Given the description of an element on the screen output the (x, y) to click on. 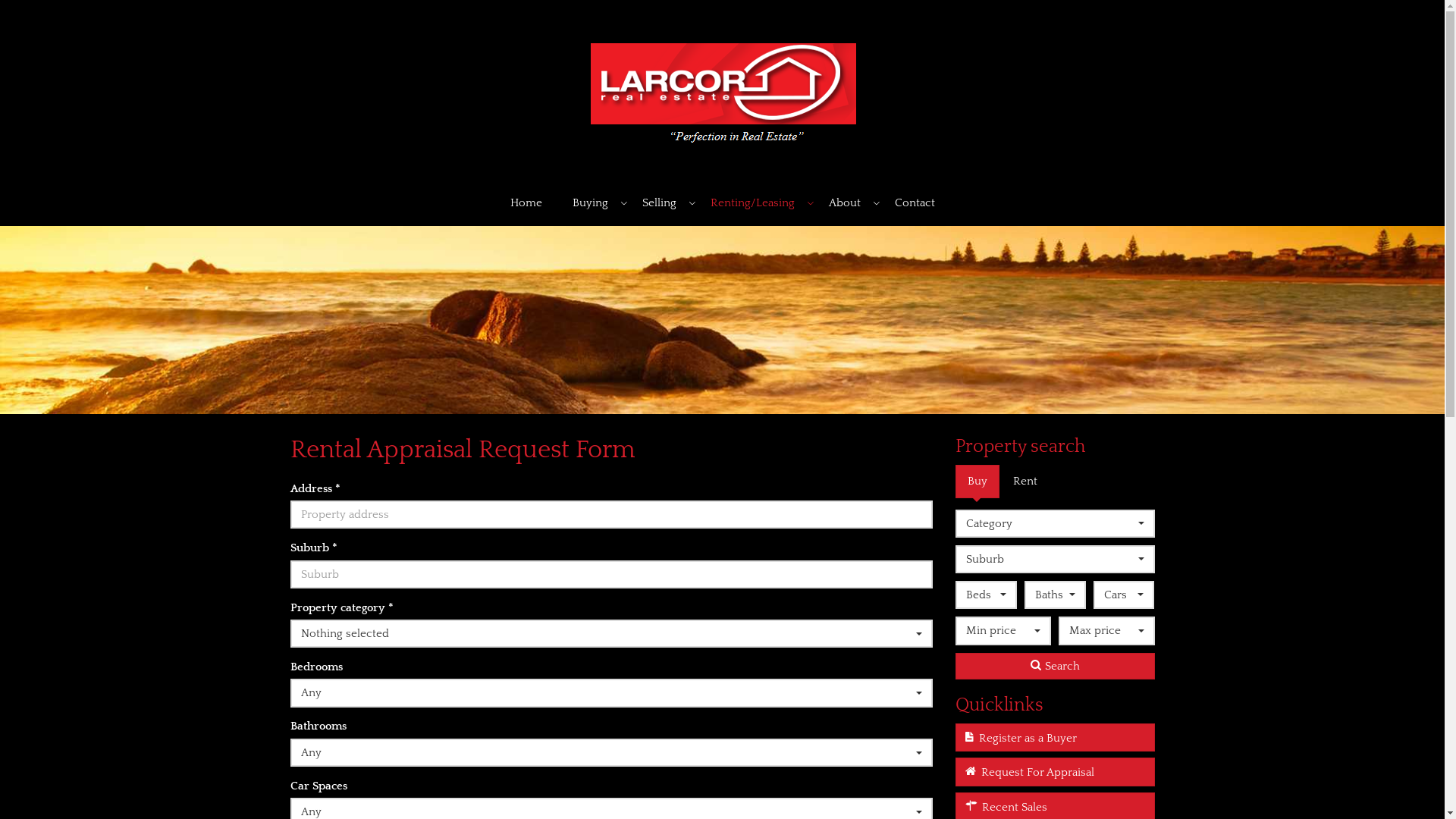
Nothing selected
  Element type: text (610, 633)
Rent Element type: text (1025, 480)
About Element type: text (845, 202)
Renting/Leasing Element type: text (753, 202)
Beds
  Element type: text (985, 594)
Min price
  Element type: text (1003, 630)
Any
  Element type: text (610, 752)
Cars
  Element type: text (1123, 594)
Selling Element type: text (660, 202)
Buy Element type: text (977, 480)
Request For Appraisal Element type: text (1054, 771)
Suburb
  Element type: text (1054, 559)
Larcor Real Estate Element type: hover (722, 88)
Any
  Element type: text (610, 692)
Contact Element type: text (914, 202)
Search Element type: text (1054, 665)
Buying Element type: text (591, 202)
Register as a Buyer Element type: text (1054, 737)
Max price
  Element type: text (1106, 630)
Home Element type: text (525, 202)
Category
  Element type: text (1054, 523)
Baths
  Element type: text (1054, 594)
